Given the description of an element on the screen output the (x, y) to click on. 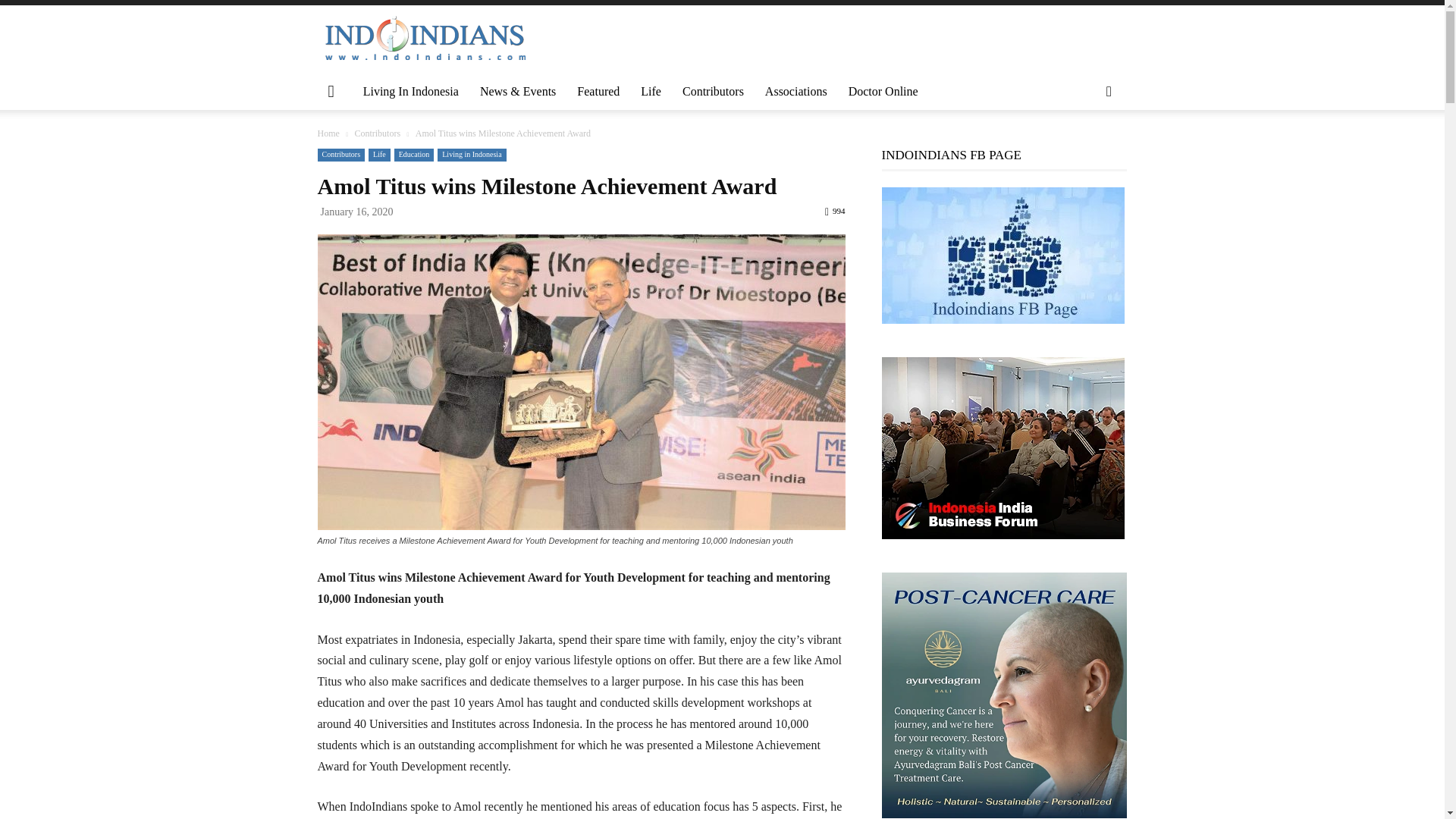
LOGO INDOINDIANS (424, 39)
View all posts in Contributors (376, 132)
